Given the description of an element on the screen output the (x, y) to click on. 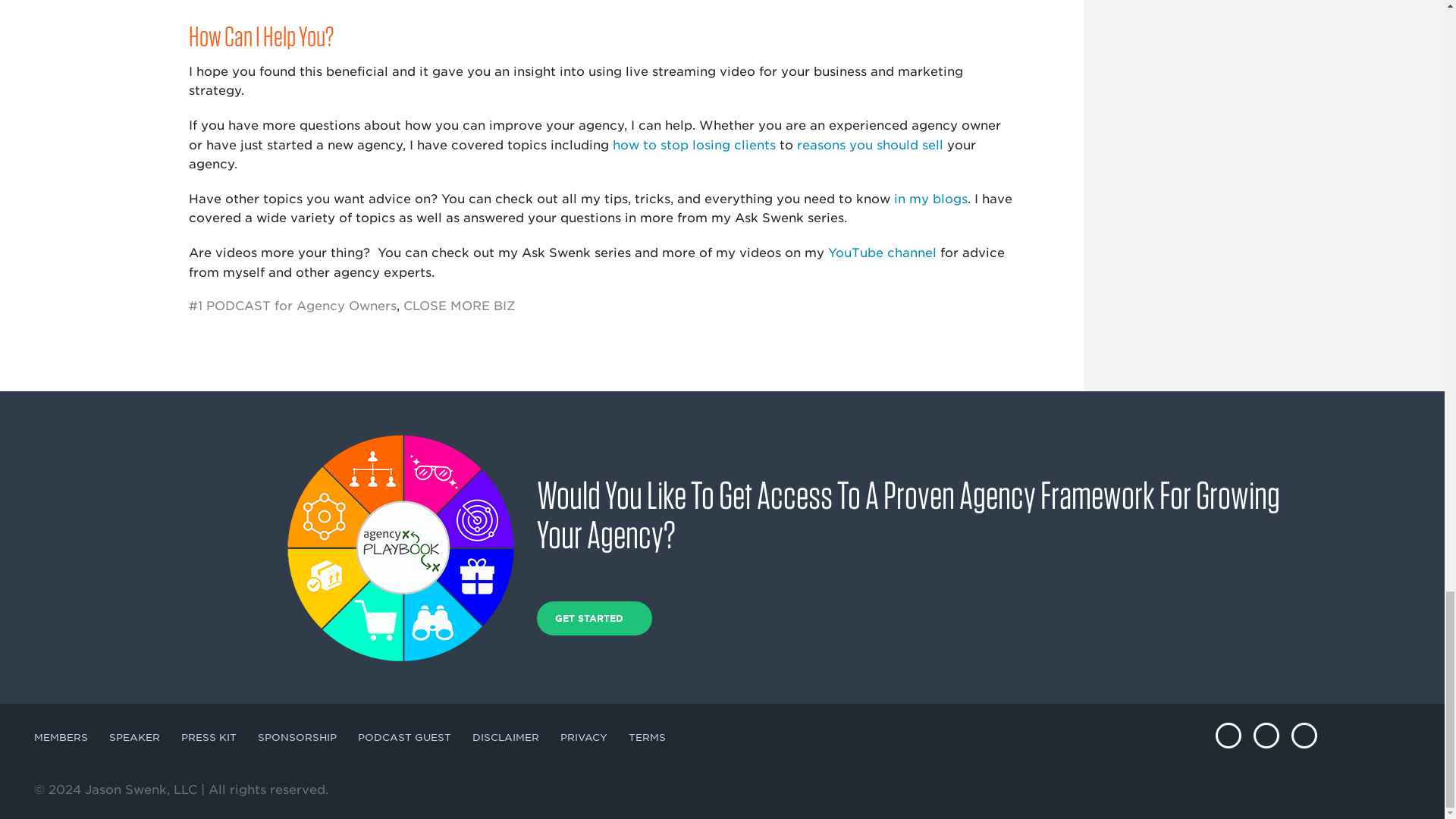
CLOSE MORE BIZ (459, 305)
reasons you should sell (869, 145)
GET STARTED (594, 617)
in my blogs (930, 198)
how to stop losing clients (694, 145)
GET STARTED (594, 618)
YouTube channel (882, 252)
